Given the description of an element on the screen output the (x, y) to click on. 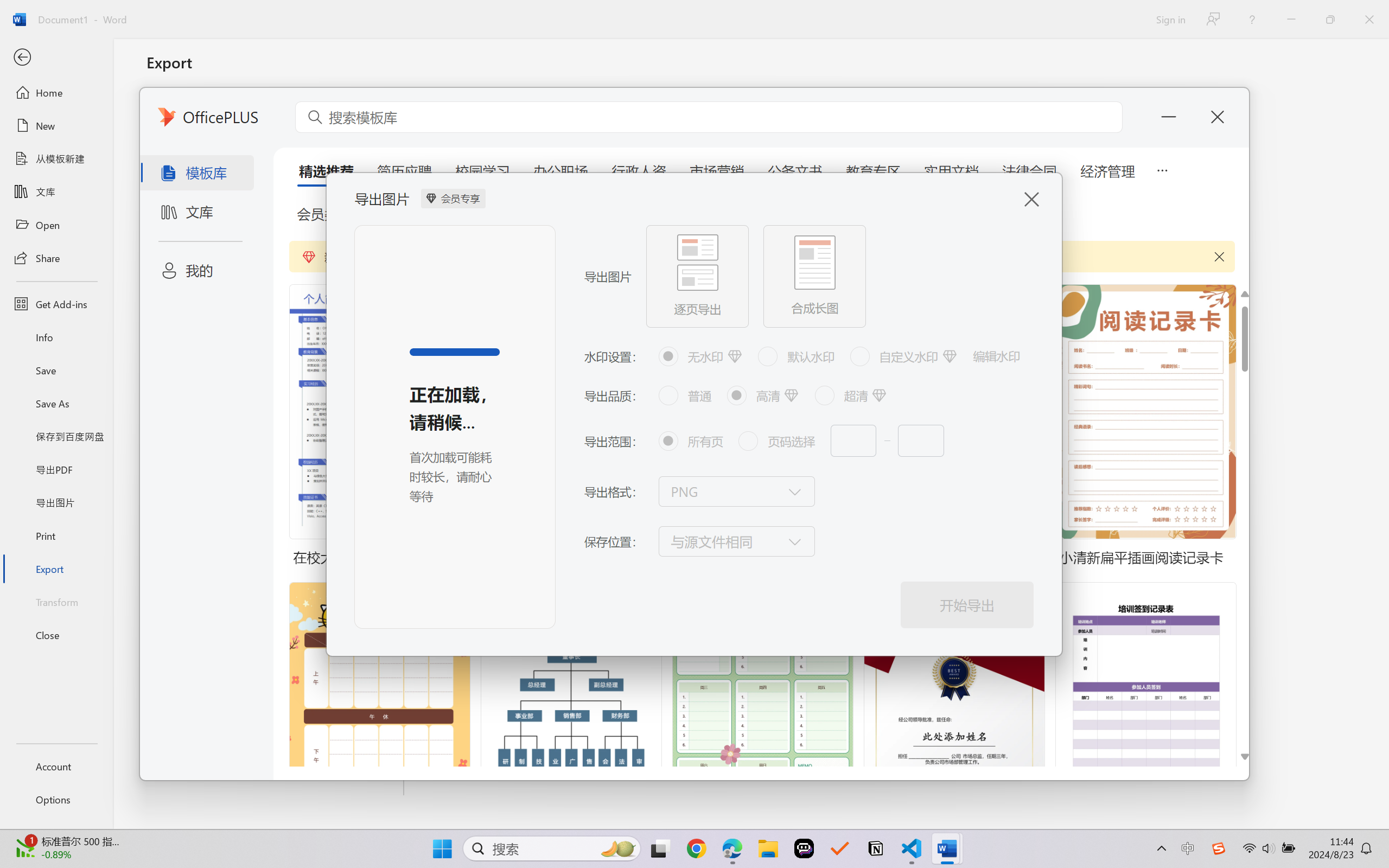
Options (56, 798)
5 more tabs (1161, 169)
Transform (56, 601)
Print (56, 535)
